Given the description of an element on the screen output the (x, y) to click on. 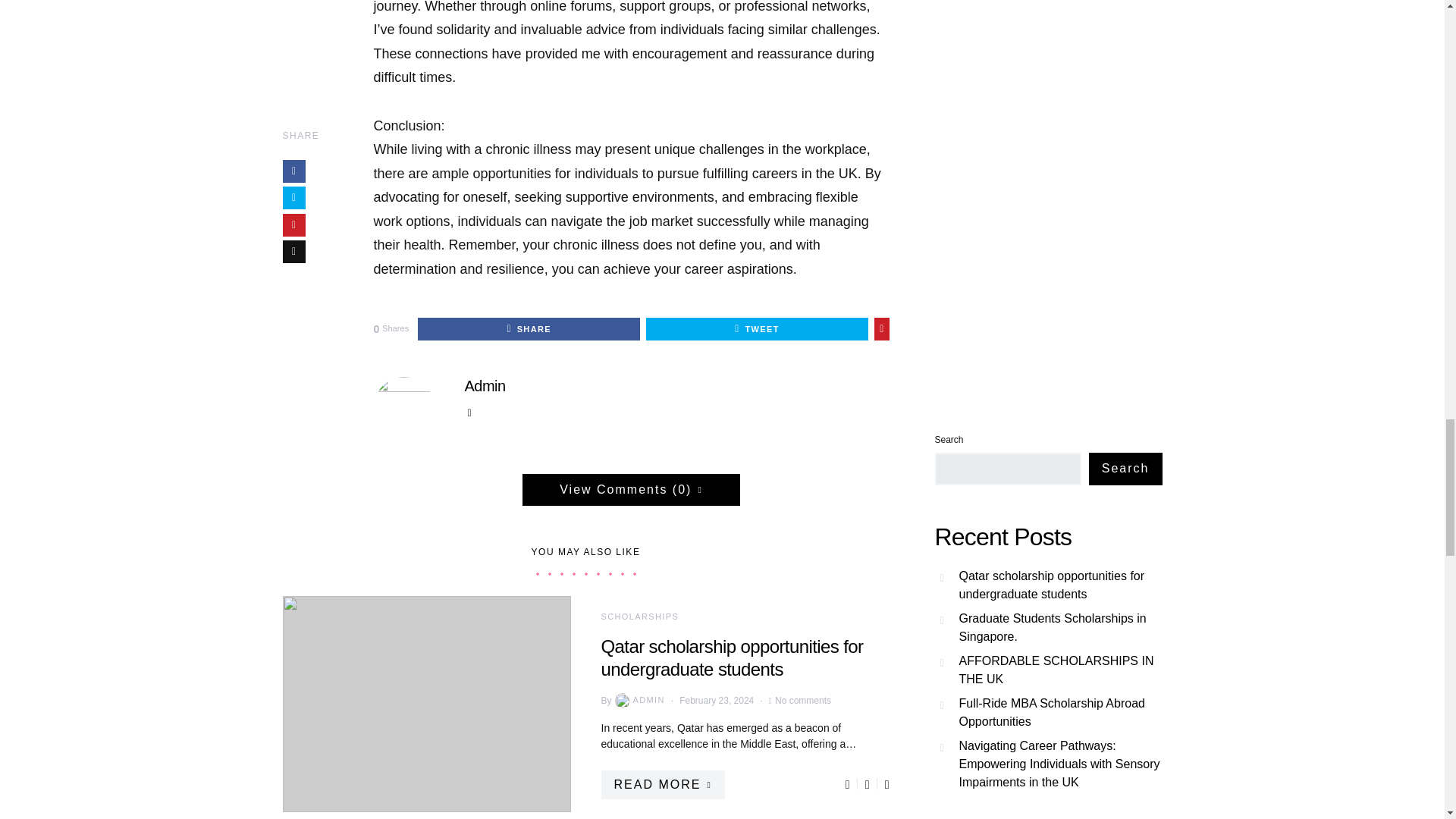
TWEET (756, 328)
Qatar scholarship opportunities for undergraduate students (731, 656)
READ MORE (661, 784)
No comments (802, 699)
Admin (484, 385)
SHARE (528, 328)
ADMIN (638, 700)
View all posts by Admin (638, 700)
SCHOLARSHIPS (638, 614)
